Given the description of an element on the screen output the (x, y) to click on. 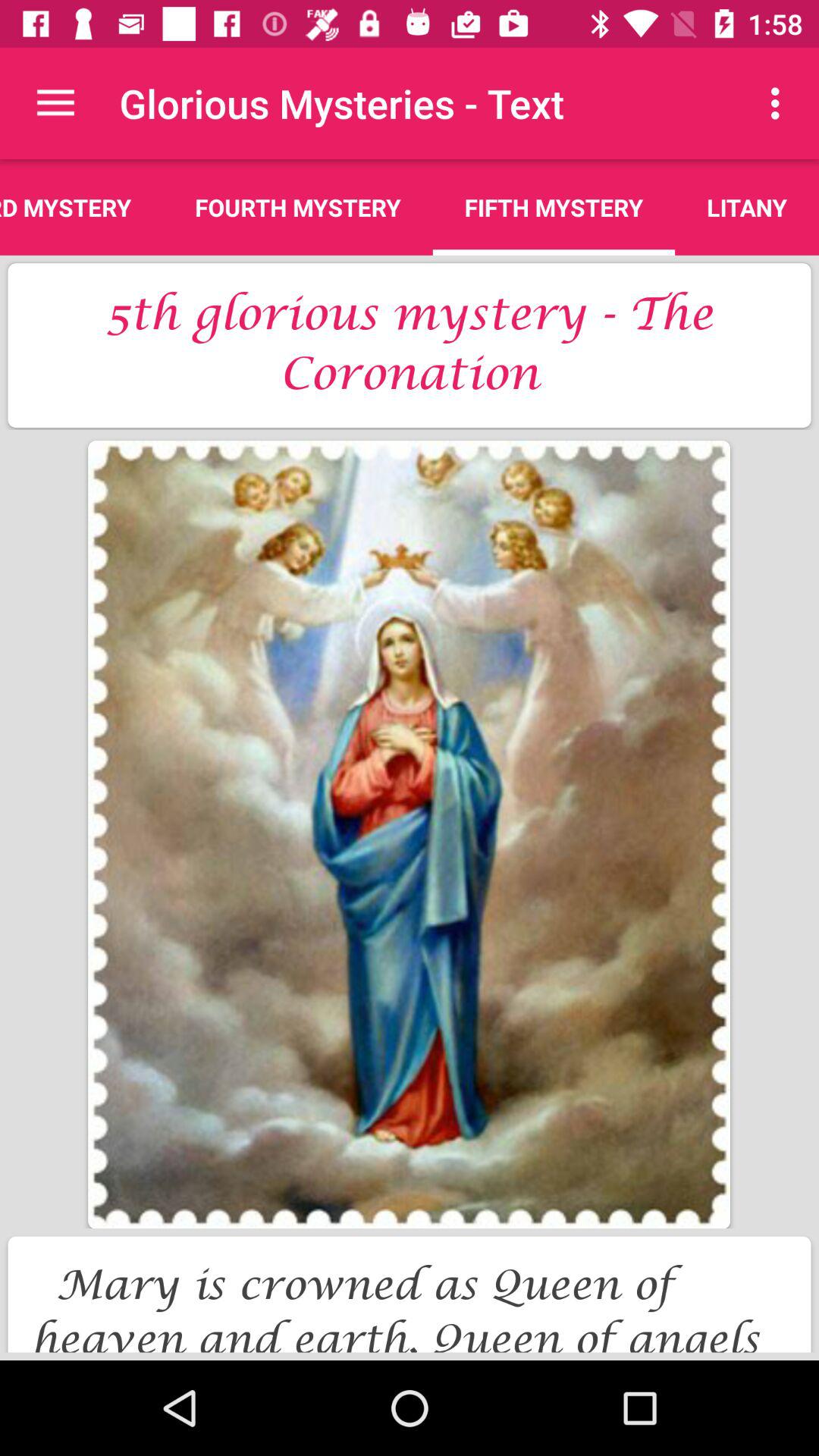
tap item next to the glorious mysteries - text app (55, 103)
